Given the description of an element on the screen output the (x, y) to click on. 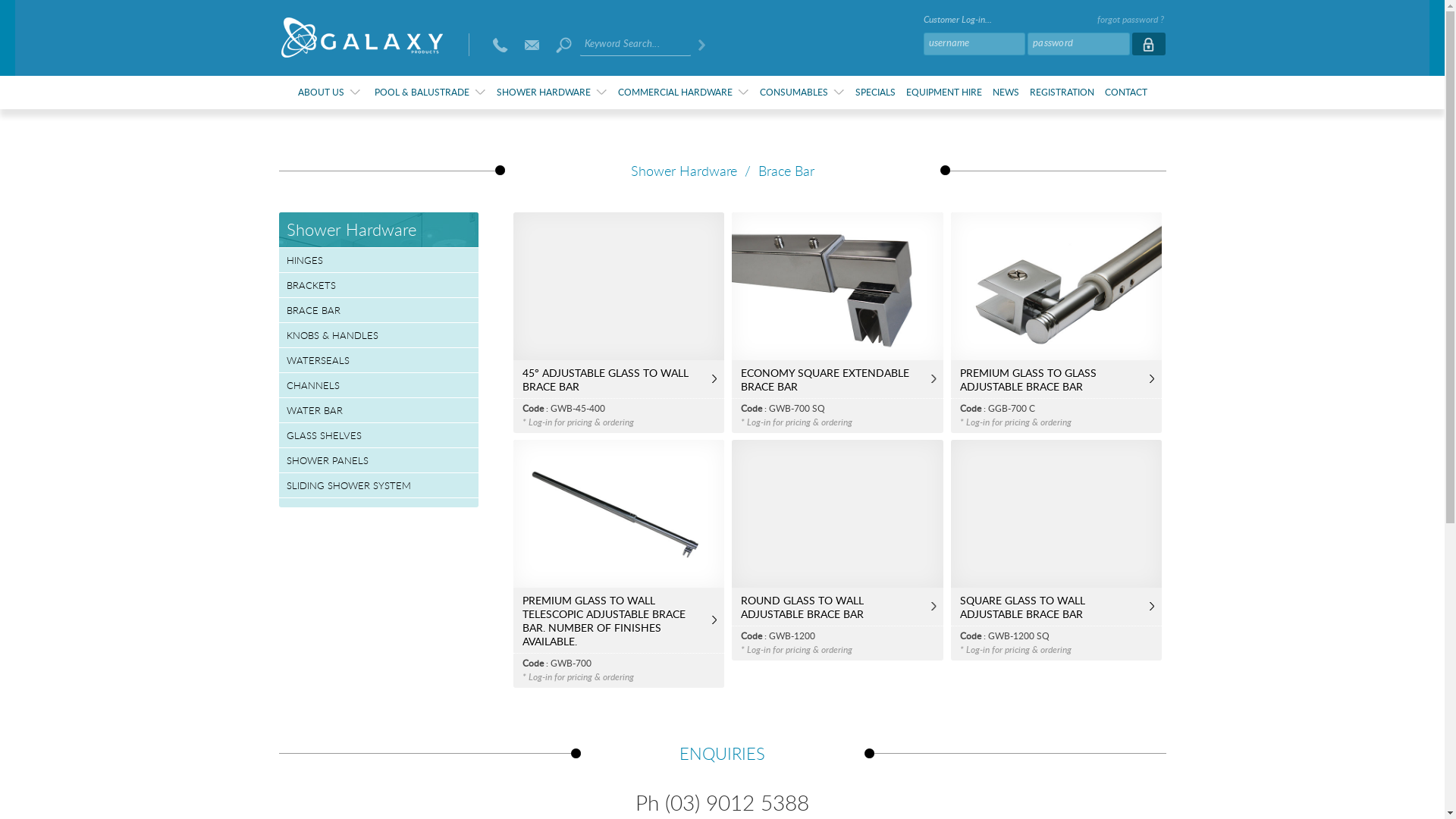
GLASS SHELVES Element type: text (323, 435)
SHOWER HARDWARE Element type: text (550, 91)
forgot password ?  Element type: text (1130, 19)
BRACE BAR Element type: text (313, 309)
WATER BAR Element type: text (314, 410)
HINGES Element type: text (304, 259)
BRACKETS Element type: text (310, 284)
CHANNELS Element type: text (312, 385)
SLIDING SHOWER SYSTEM Element type: text (348, 485)
NEWS Element type: text (1005, 91)
SPECIALS Element type: text (874, 91)
REGISTRATION Element type: text (1060, 91)
WATERSEALS Element type: text (317, 360)
POOL & BALUSTRADE Element type: text (430, 91)
COMMERCIAL HARDWARE Element type: text (682, 91)
CONTACT Element type: text (1125, 91)
KNOBS & HANDLES Element type: text (332, 335)
SHOWER PANELS Element type: text (327, 460)
ABOUT US Element type: text (328, 91)
CONSUMABLES Element type: text (801, 91)
EQUIPMENT HIRE Element type: text (943, 91)
